Given the description of an element on the screen output the (x, y) to click on. 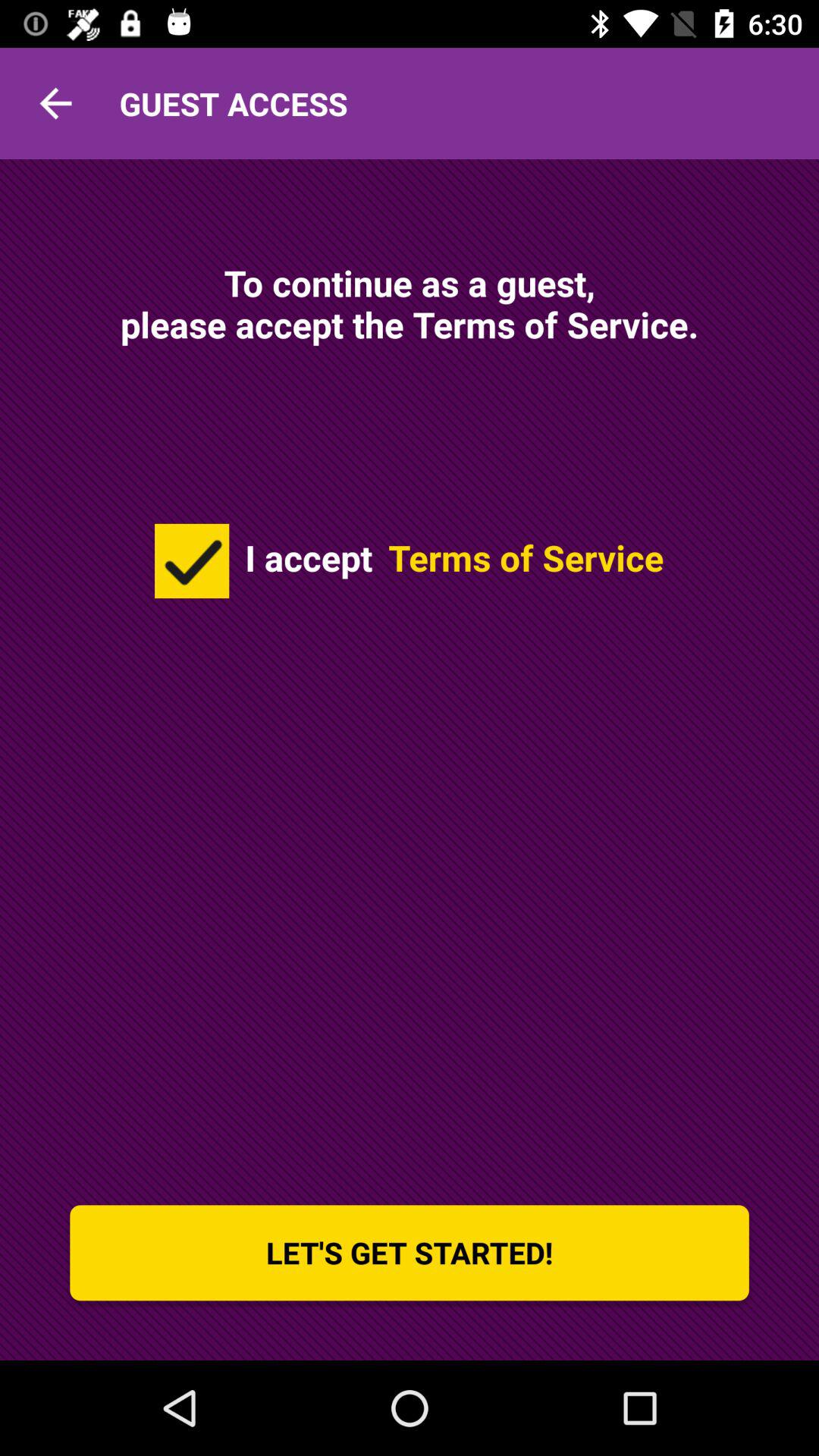
open the icon next to the i accept item (191, 560)
